Given the description of an element on the screen output the (x, y) to click on. 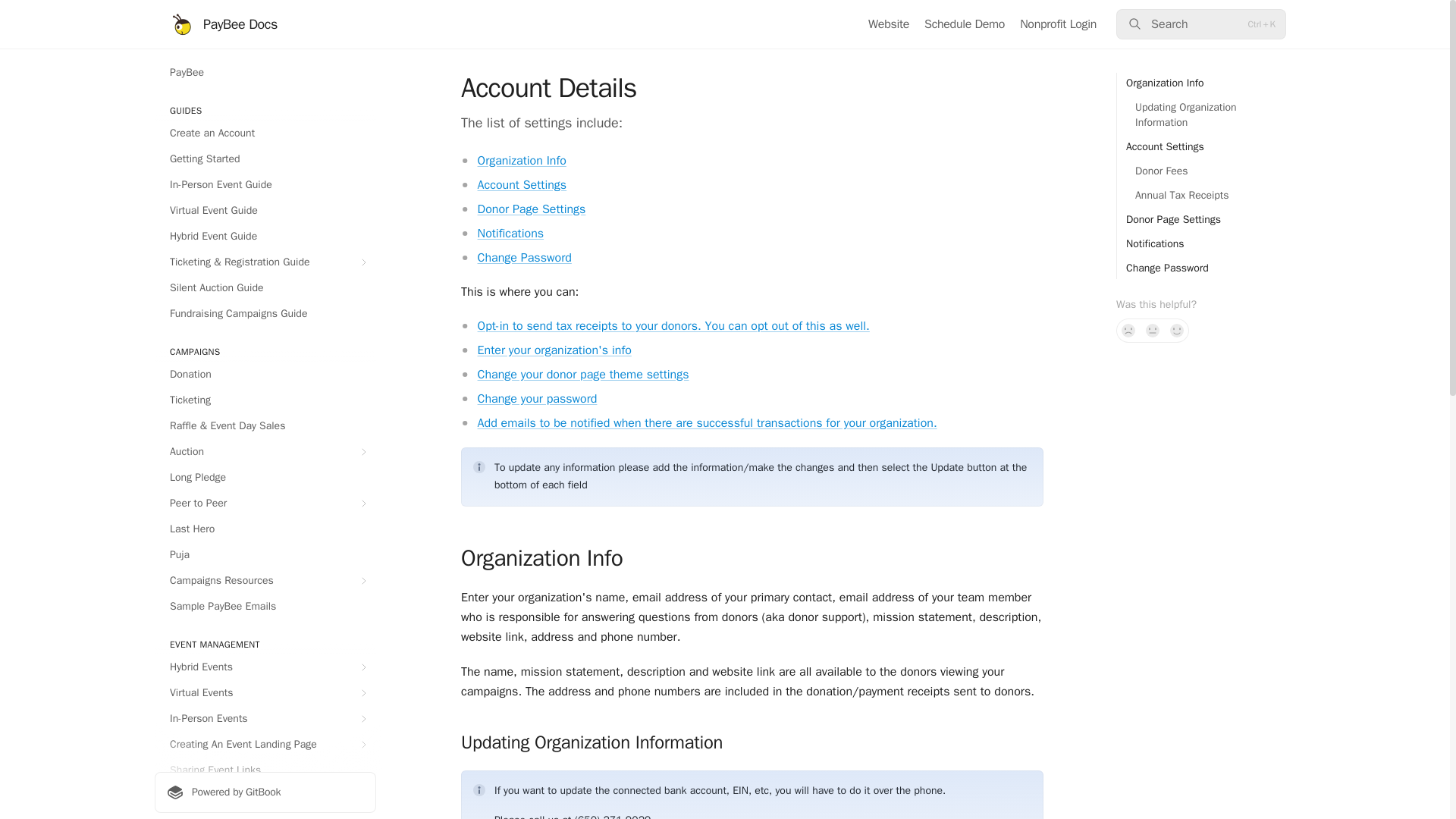
Hybrid Events (264, 667)
No (1128, 330)
Hybrid Event Guide (264, 236)
Not sure (1152, 330)
Virtual Event Guide (264, 210)
Puja (264, 554)
Create an Account (264, 133)
Schedule Demo (964, 24)
Auction (264, 451)
Peer to Peer (264, 503)
Campaigns Resources (264, 580)
Ticketing (264, 400)
Yes, it was! (1176, 330)
Last Hero (264, 528)
Nonprofit Login (1058, 24)
